Given the description of an element on the screen output the (x, y) to click on. 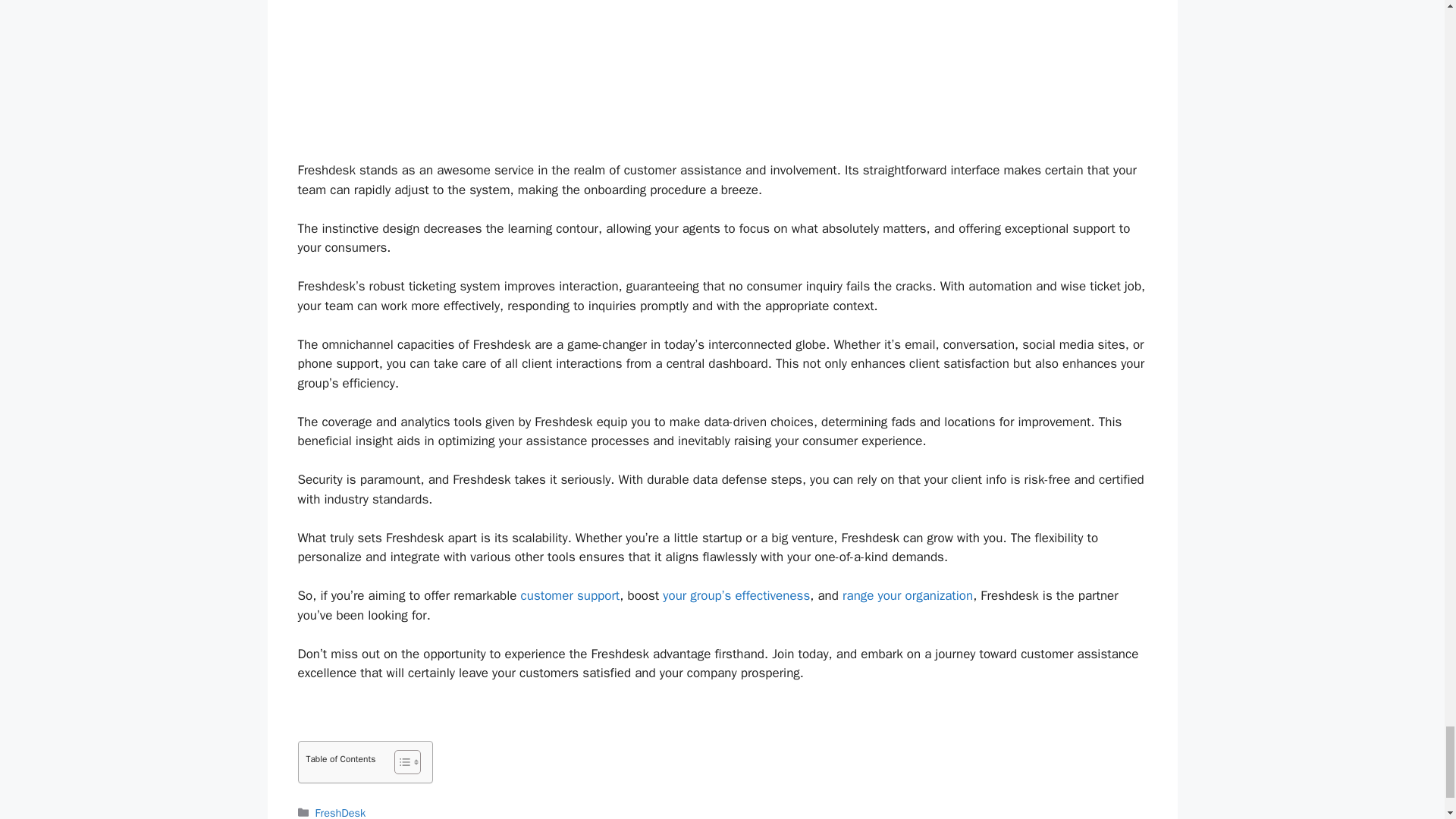
FreshDesk (340, 812)
range your organization (907, 595)
customer support (570, 595)
